Given the description of an element on the screen output the (x, y) to click on. 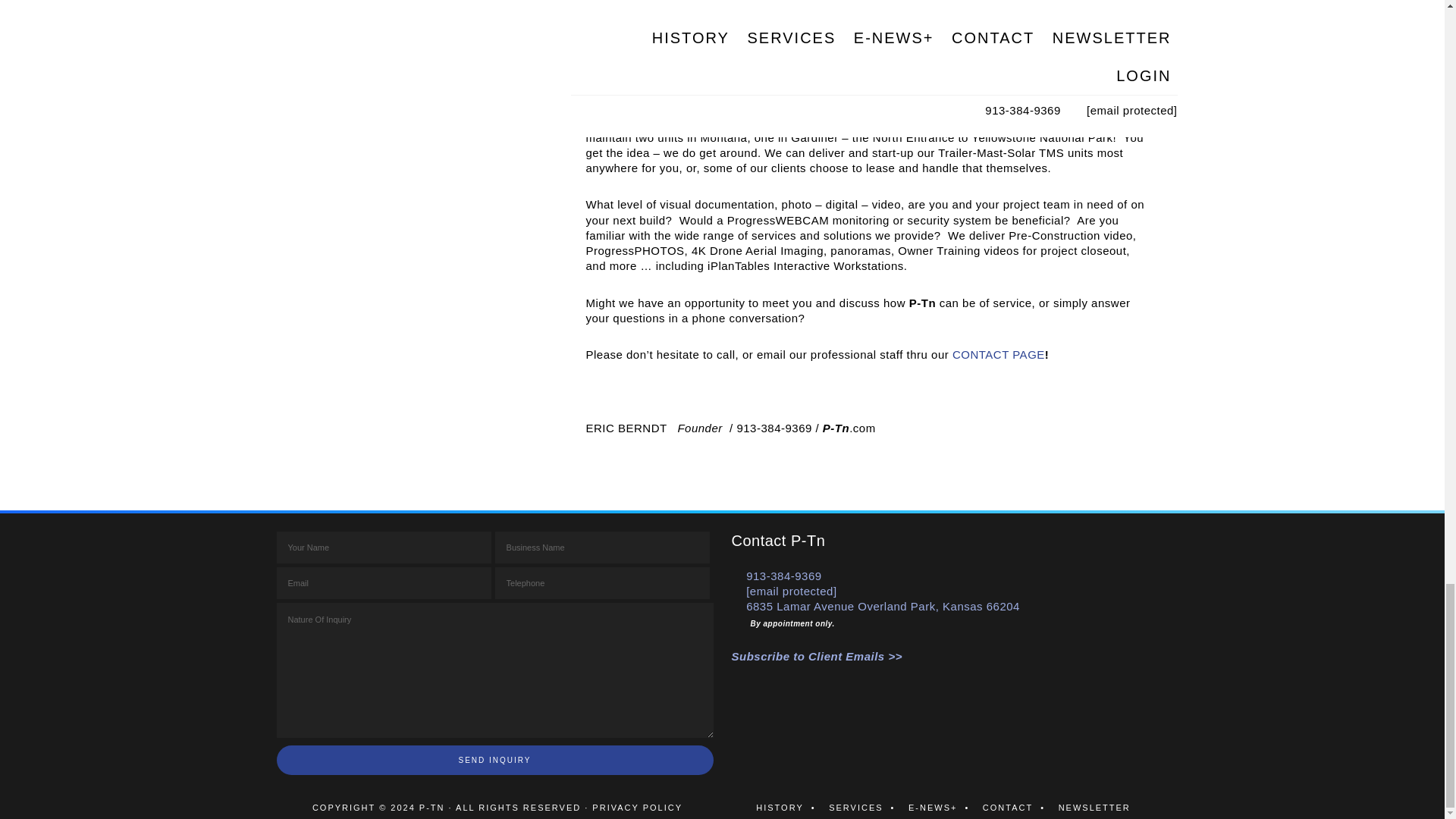
6835 Lamar Avenue Overland Park, Kansas 66204 (882, 605)
PRIVACY POLICY (637, 807)
Send Inquiry (494, 759)
CONTACT PAGE (998, 354)
SERVICES (865, 807)
913-384-9369 (783, 575)
Send Inquiry (494, 759)
HISTORY (788, 807)
